Given the description of an element on the screen output the (x, y) to click on. 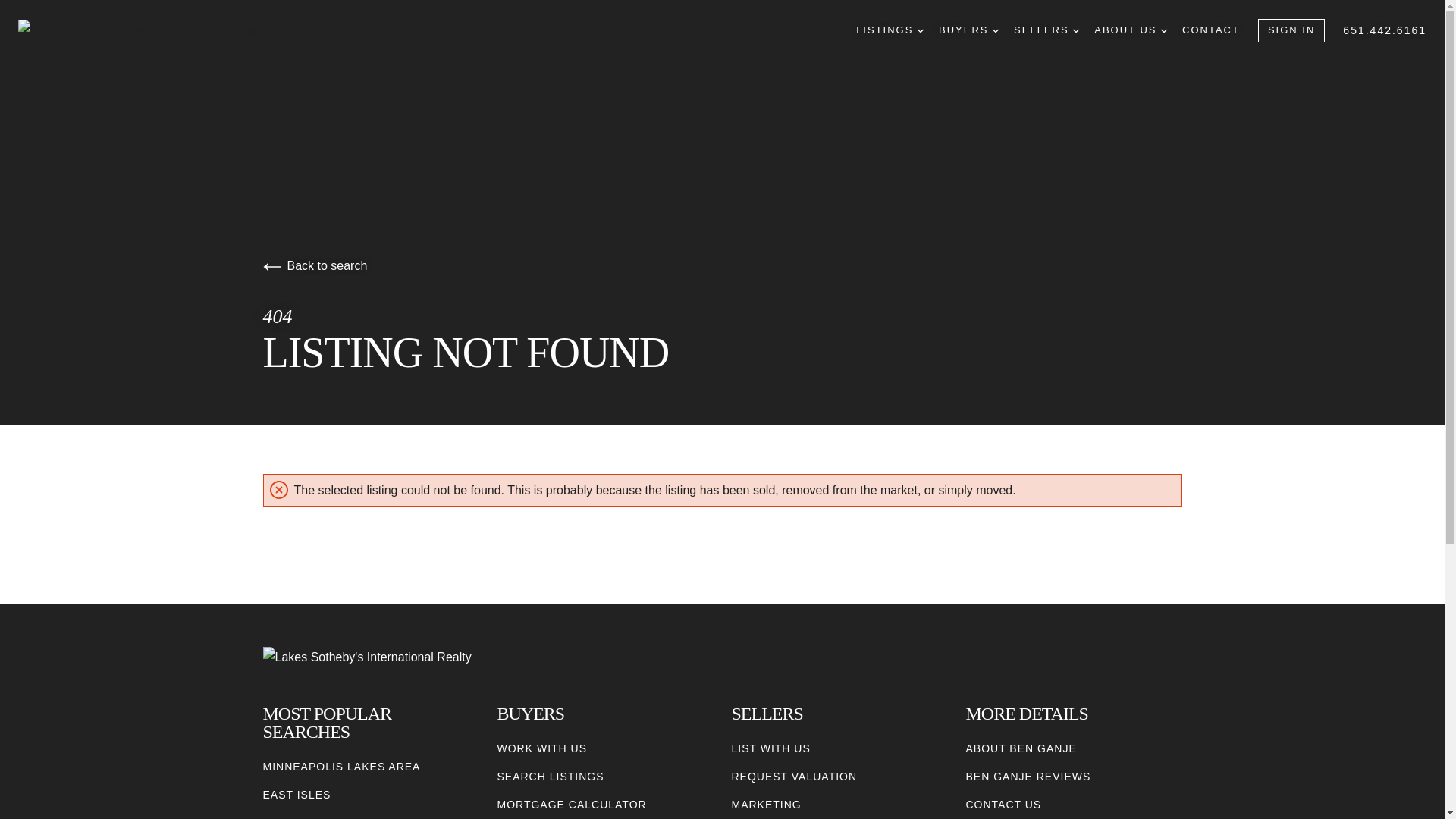
ABOUT US DROPDOWN ARROW (1130, 30)
DROPDOWN ARROW (1163, 30)
SIGN IN (1290, 30)
DROPDOWN ARROW (1075, 30)
LISTINGS DROPDOWN ARROW (889, 30)
BUYERS DROPDOWN ARROW (968, 30)
651.442.6161 (1384, 29)
DROPDOWN ARROW (920, 30)
DROPDOWN ARROW (995, 30)
CONTACT (1211, 30)
SELLERS DROPDOWN ARROW (1045, 30)
Back to search (314, 265)
